Given the description of an element on the screen output the (x, y) to click on. 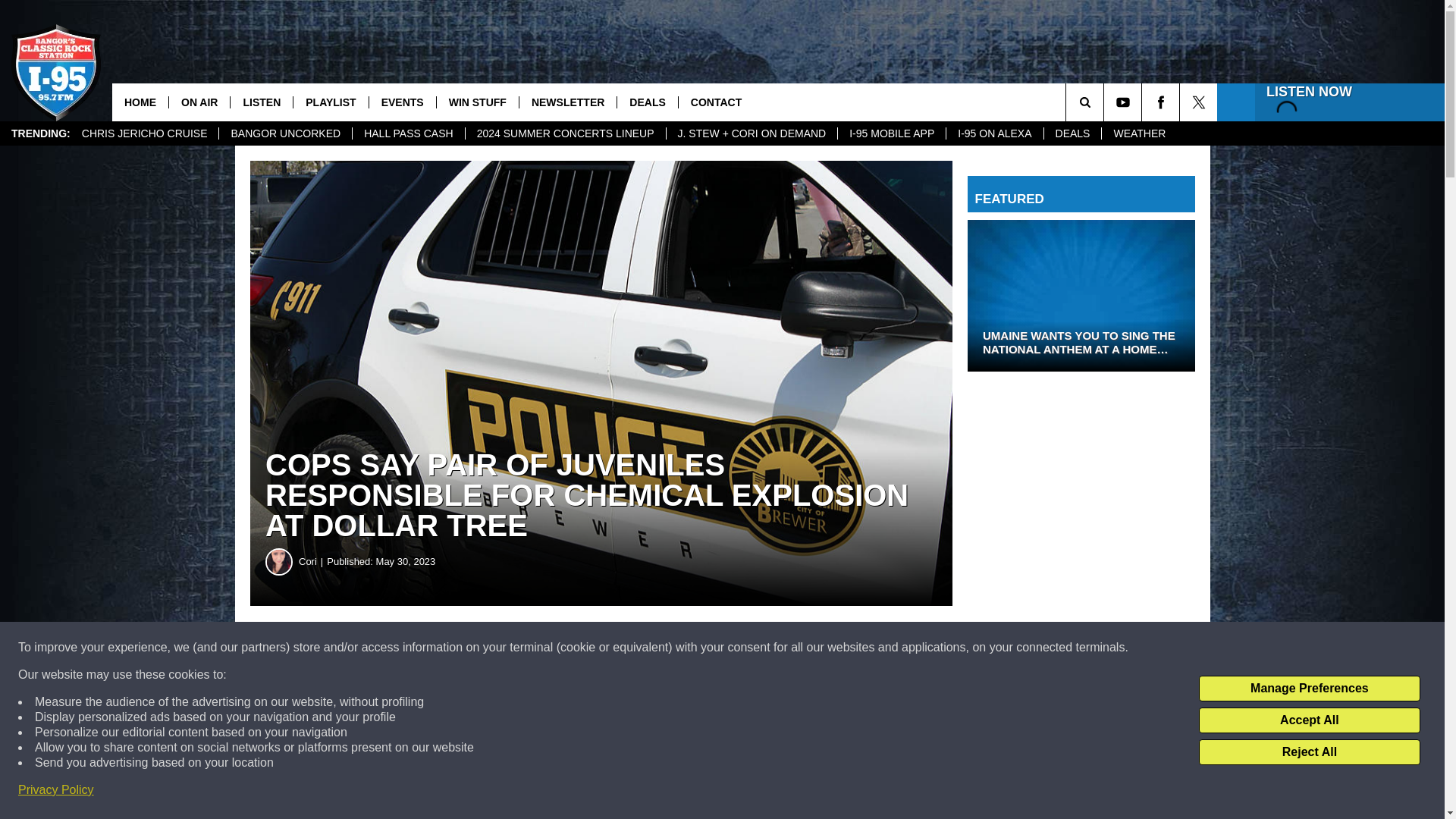
Manage Preferences (1309, 688)
WEATHER (1138, 133)
CHRIS JERICHO CRUISE (144, 133)
I-95 ON ALEXA (993, 133)
SEARCH (1106, 102)
HALL PASS CASH (408, 133)
ON AIR (199, 102)
Privacy Policy (55, 789)
PLAYLIST (330, 102)
DEALS (1072, 133)
